Given the description of an element on the screen output the (x, y) to click on. 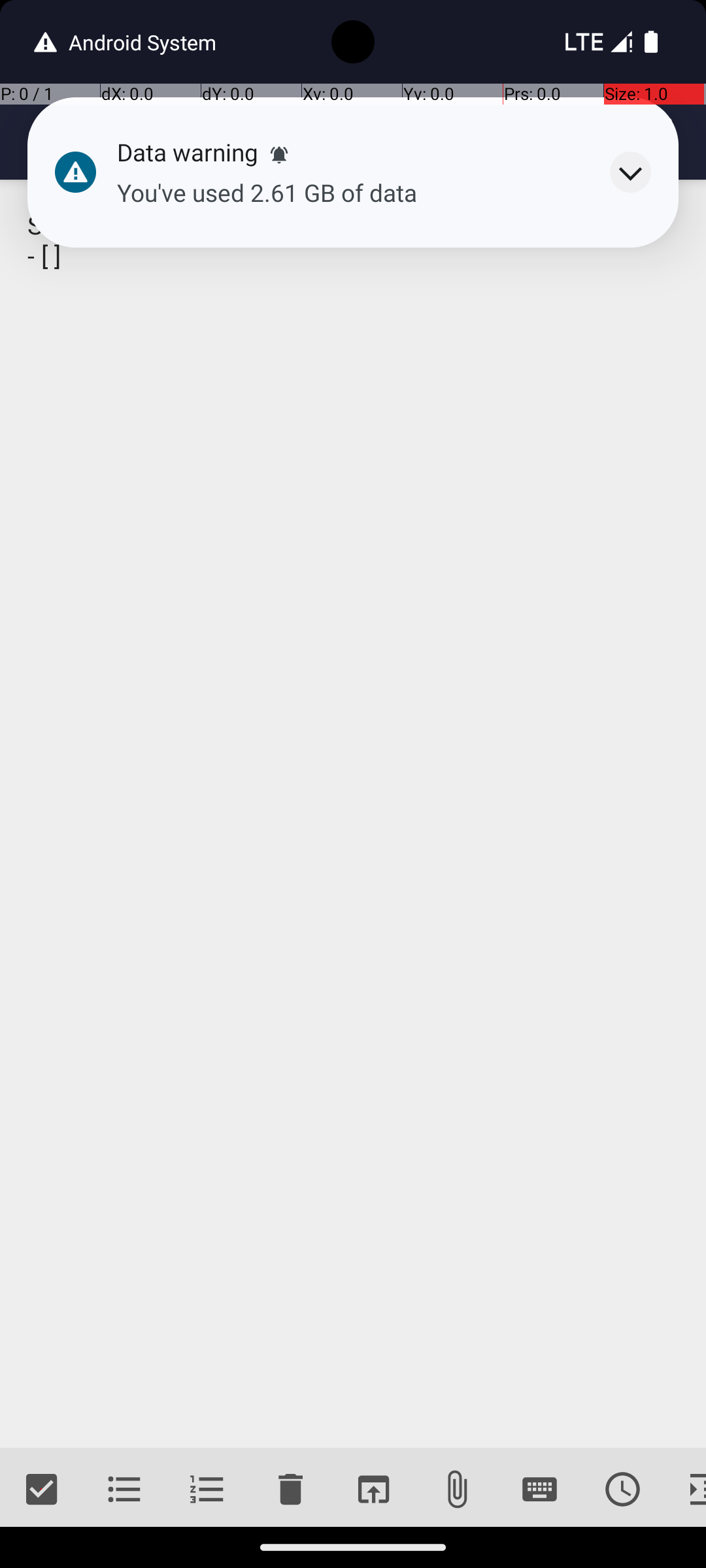
edited_kind_unicorn Element type: android.widget.TextView (160, 131)
SvmGh2bce5R8lYLFXn0g
- [ ]  Element type: android.widget.EditText (353, 813)
Android System Element type: android.widget.TextView (137, 42)
On Element type: android.widget.Switch (186, 39)
Off Element type: android.widget.Switch (518, 107)
You've used 2.61 GB of data Element type: android.widget.TextView (349, 192)
Expand Element type: android.widget.Button (630, 172)
Data warning Element type: android.widget.TextView (187, 151)
Alerted Element type: android.widget.ImageView (278, 154)
